Given the description of an element on the screen output the (x, y) to click on. 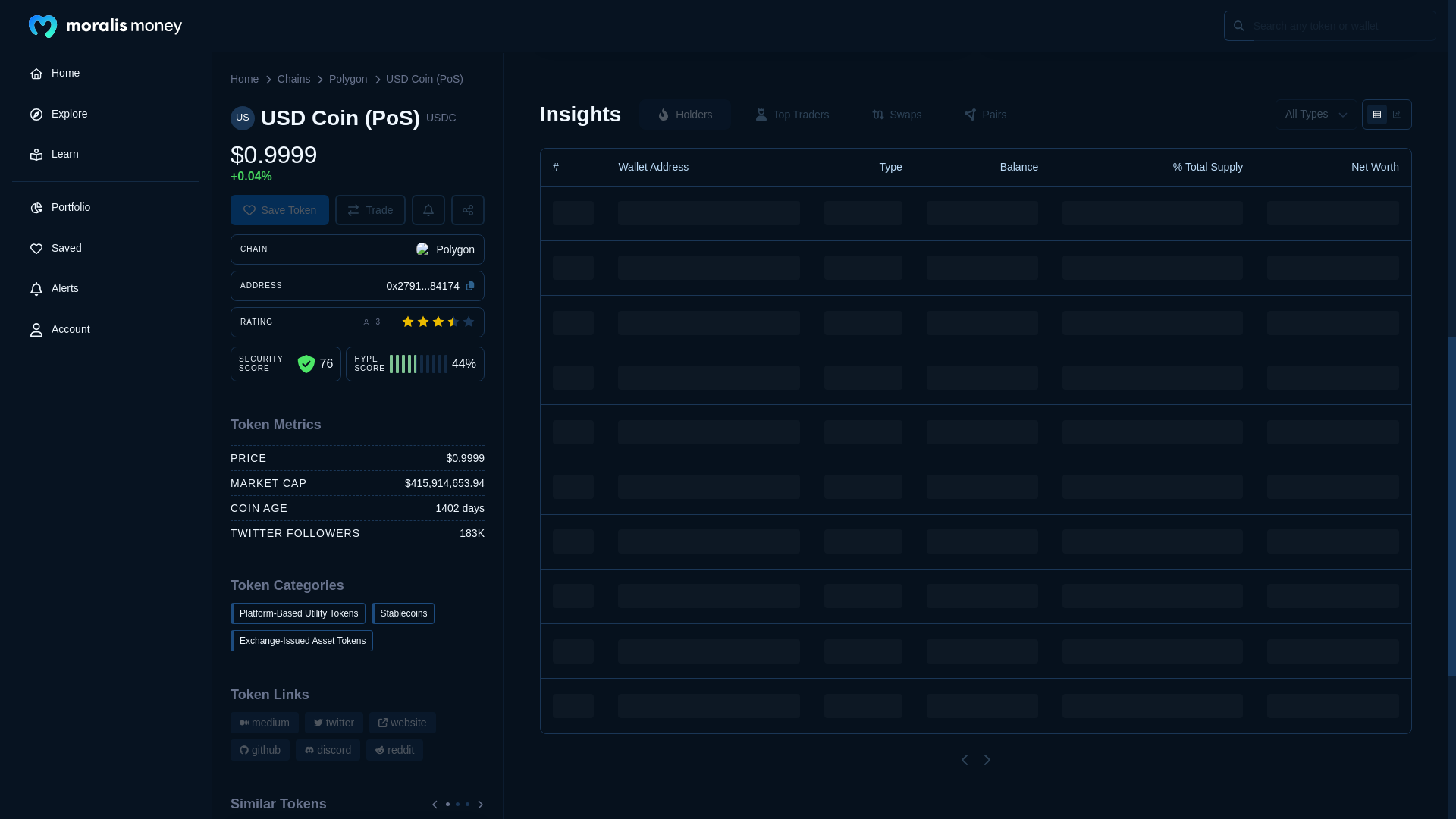
Holders (684, 114)
Top Traders (791, 114)
